Given the description of an element on the screen output the (x, y) to click on. 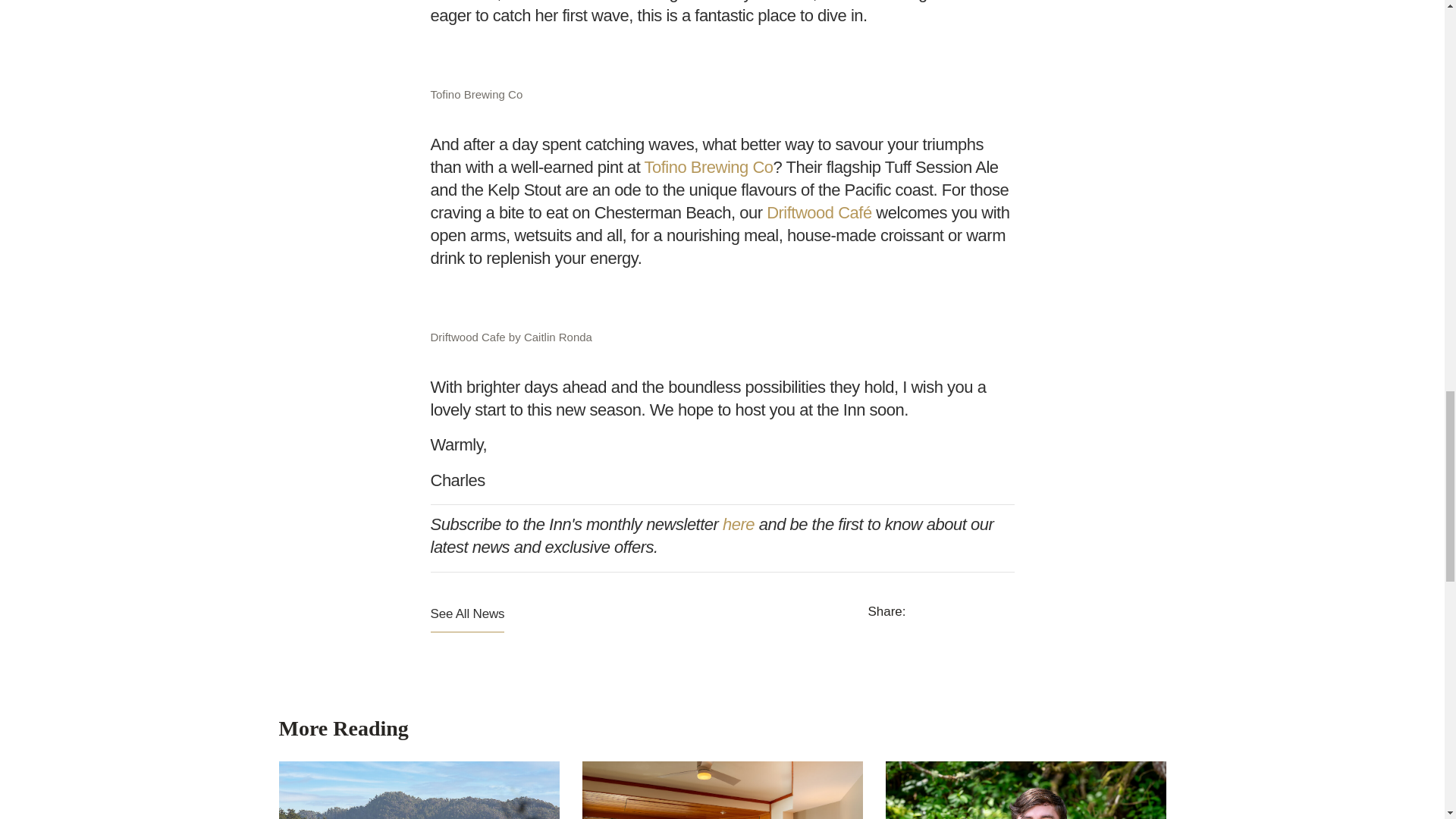
pinterest (993, 617)
facebook (920, 617)
twitter (958, 618)
